Given the description of an element on the screen output the (x, y) to click on. 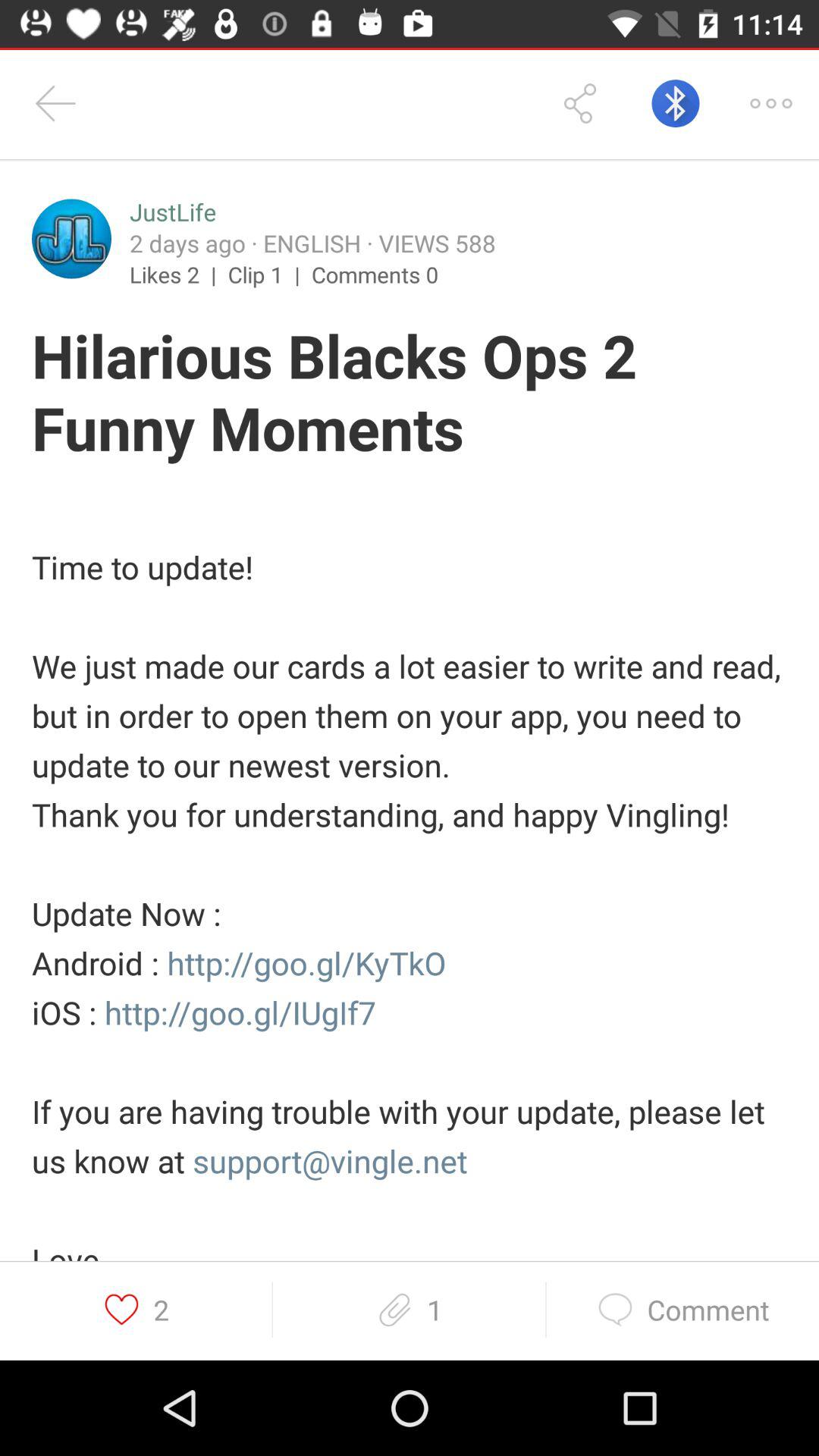
turn on the icon next to the clip 1  |   icon (374, 274)
